Given the description of an element on the screen output the (x, y) to click on. 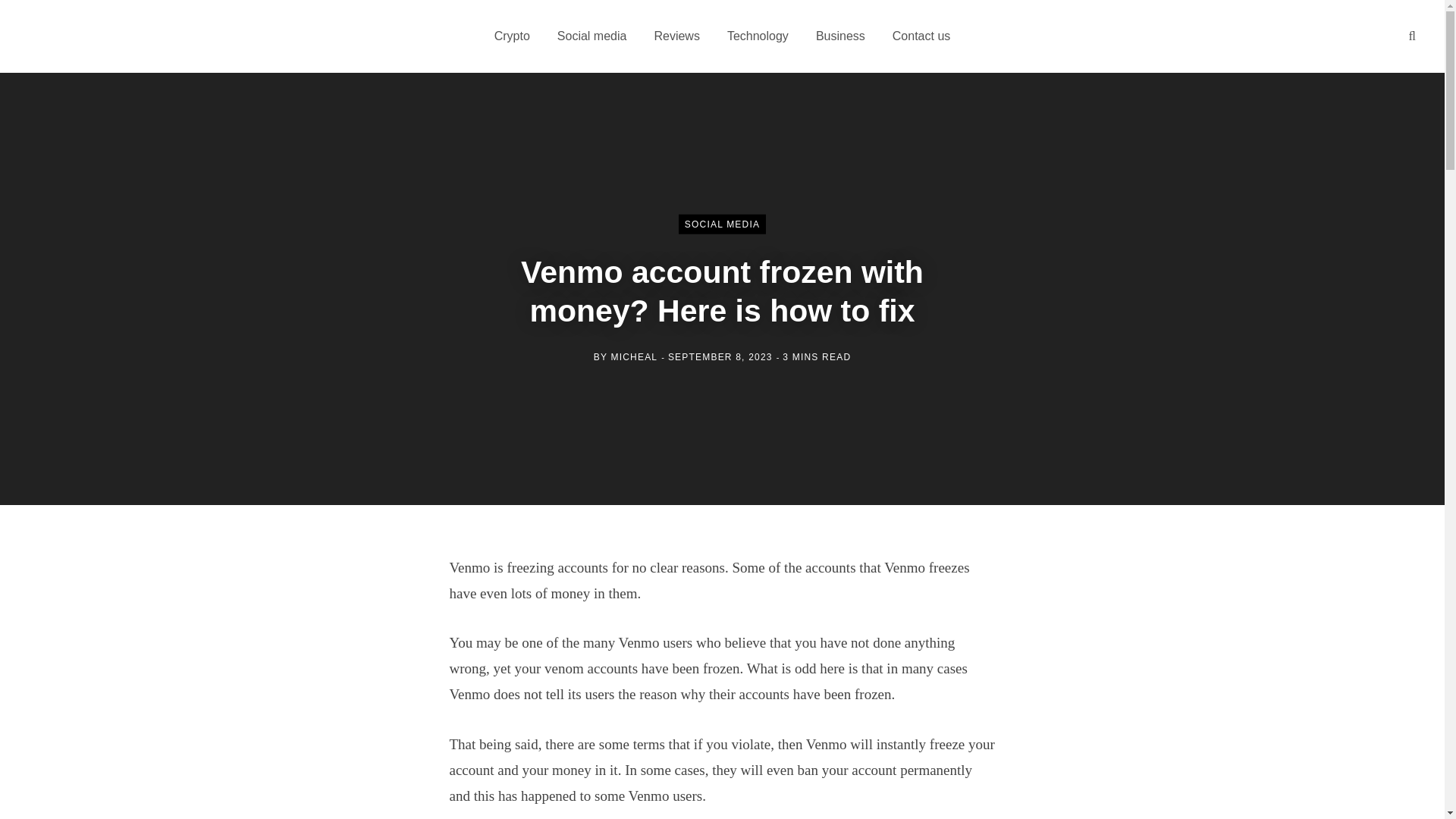
Business (840, 36)
SOCIAL MEDIA (721, 224)
Social media (591, 36)
MICHEAL (634, 356)
Technology (757, 36)
Contact us (921, 36)
Reviews (676, 36)
Posts by Micheal (634, 356)
Crypto (511, 36)
